Given the description of an element on the screen output the (x, y) to click on. 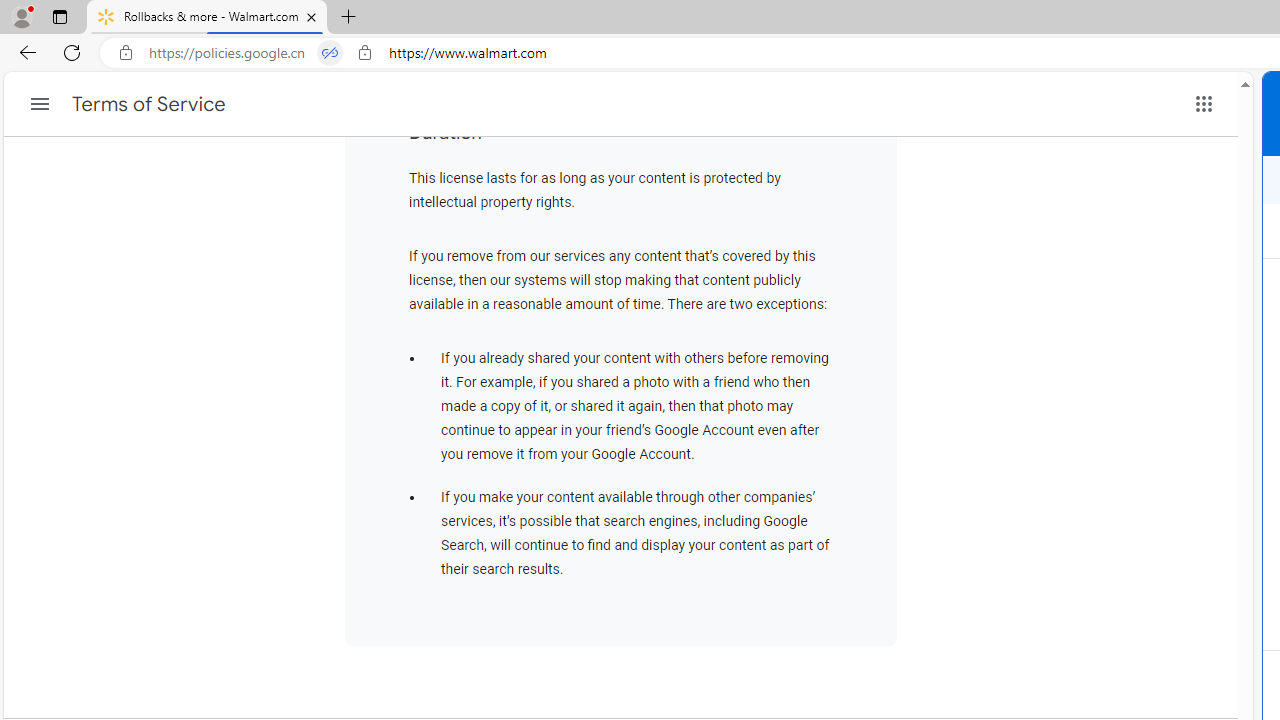
Rollbacks & more - Walmart.com (207, 17)
Tabs in split screen (330, 53)
